Given the description of an element on the screen output the (x, y) to click on. 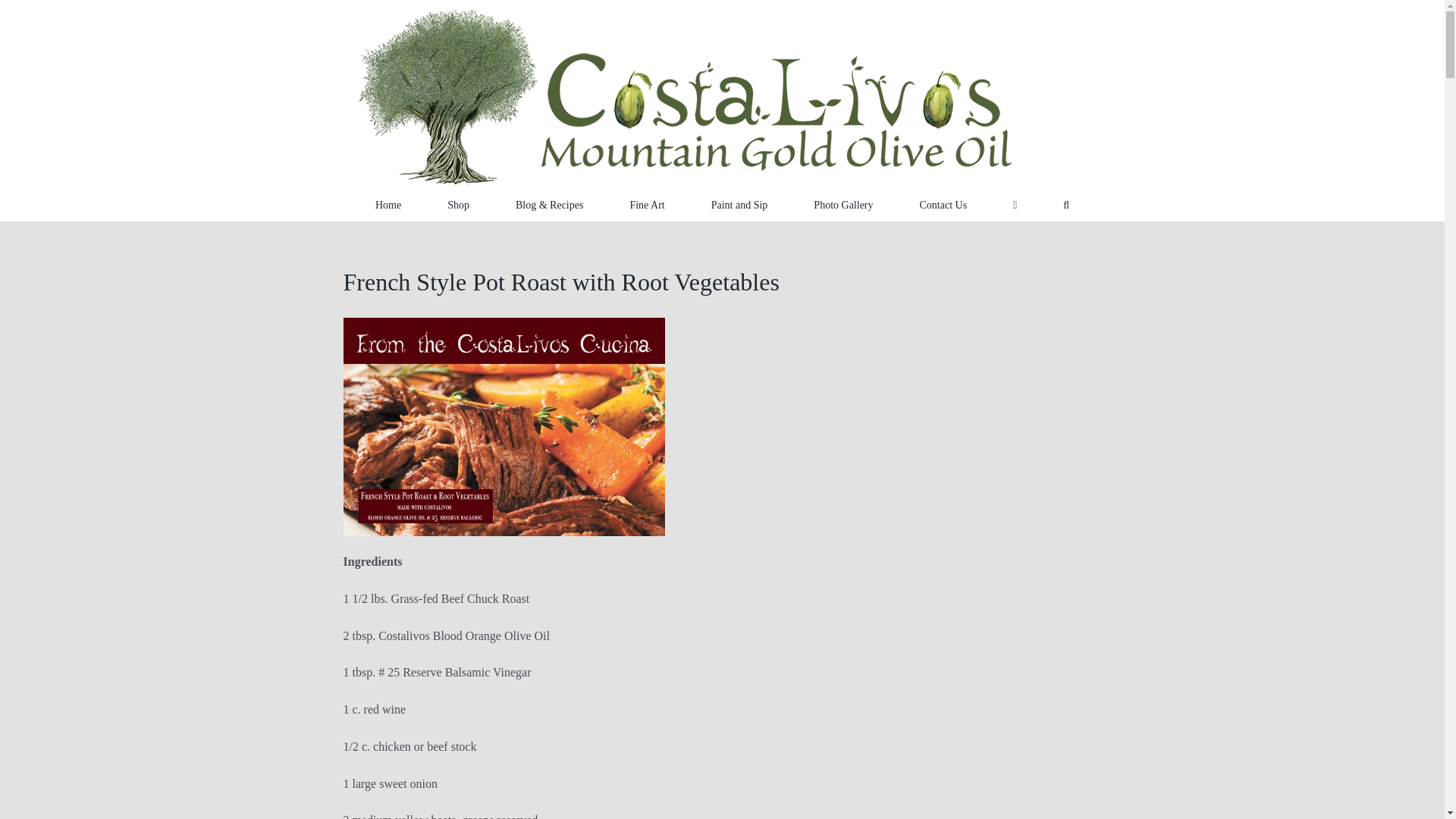
Search (1065, 205)
Contact Us (944, 205)
French Style Pot Roast with Root Vegetables (560, 281)
Home (388, 205)
Shop (457, 205)
Fine Art (645, 205)
Paint and Sip (739, 205)
Photo Gallery (842, 205)
